Given the description of an element on the screen output the (x, y) to click on. 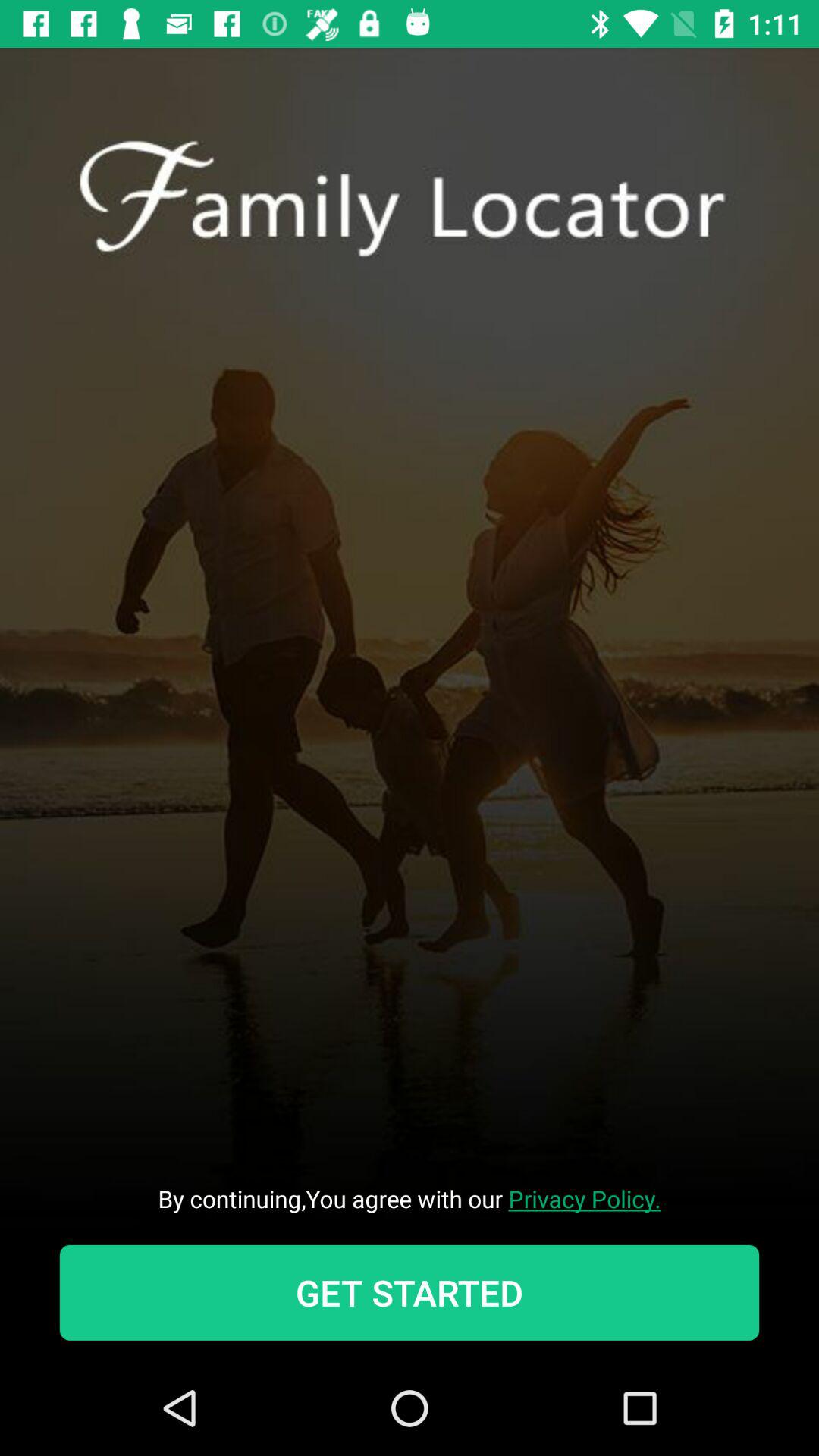
select icon below the by continuing you (409, 1292)
